Given the description of an element on the screen output the (x, y) to click on. 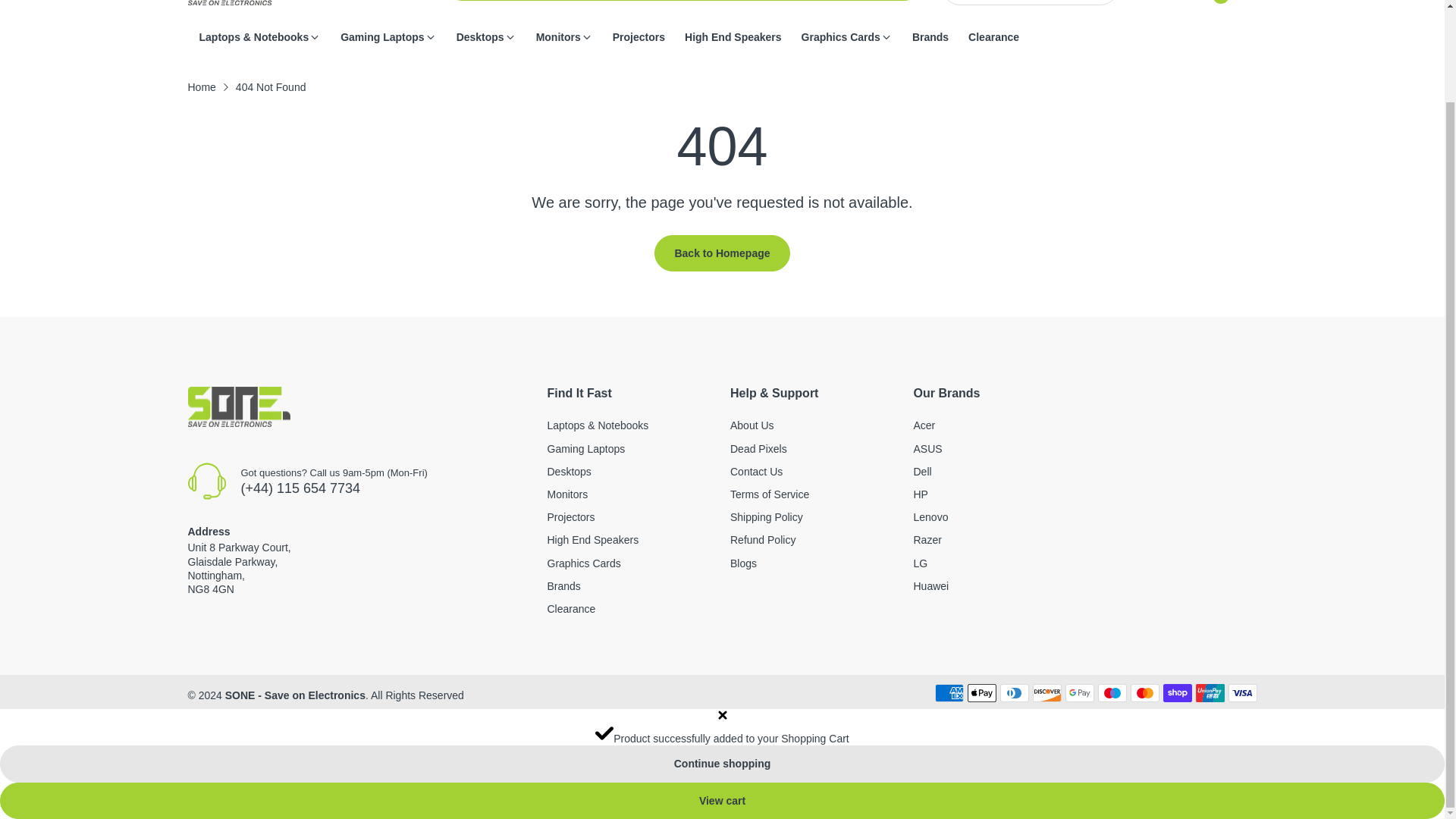
Gaming Laptops (586, 449)
Blogs (743, 563)
Clearance (993, 37)
Graphics Cards (584, 563)
Graphics Cards (841, 37)
Desktops (569, 471)
Home (201, 87)
Projectors (638, 37)
High End Speakers (593, 539)
Projectors (571, 517)
Clearance (571, 608)
Refund Policy (762, 539)
Brands (930, 37)
Monitors (557, 37)
Desktops (480, 37)
